Given the description of an element on the screen output the (x, y) to click on. 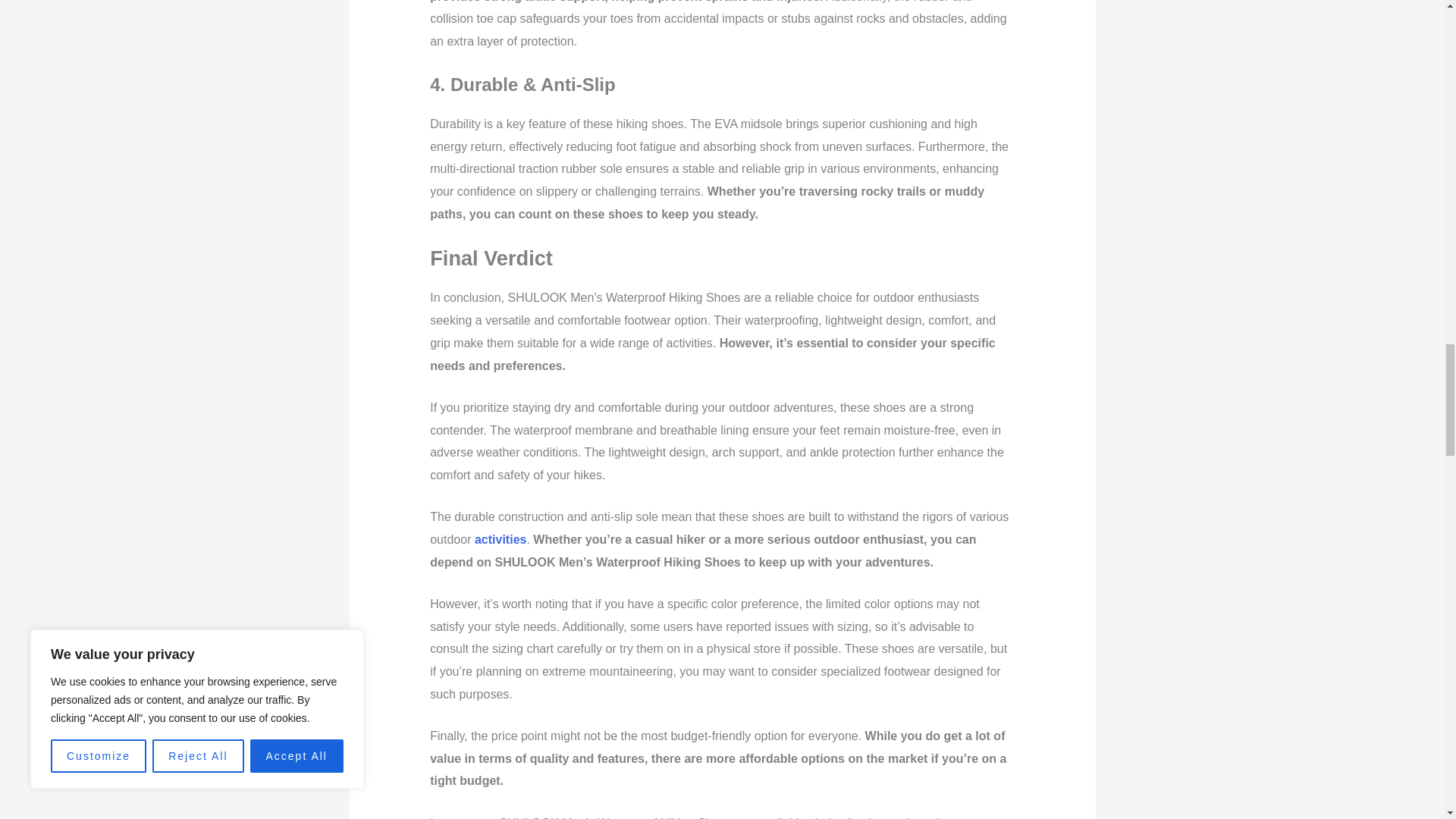
activities (499, 539)
